Given the description of an element on the screen output the (x, y) to click on. 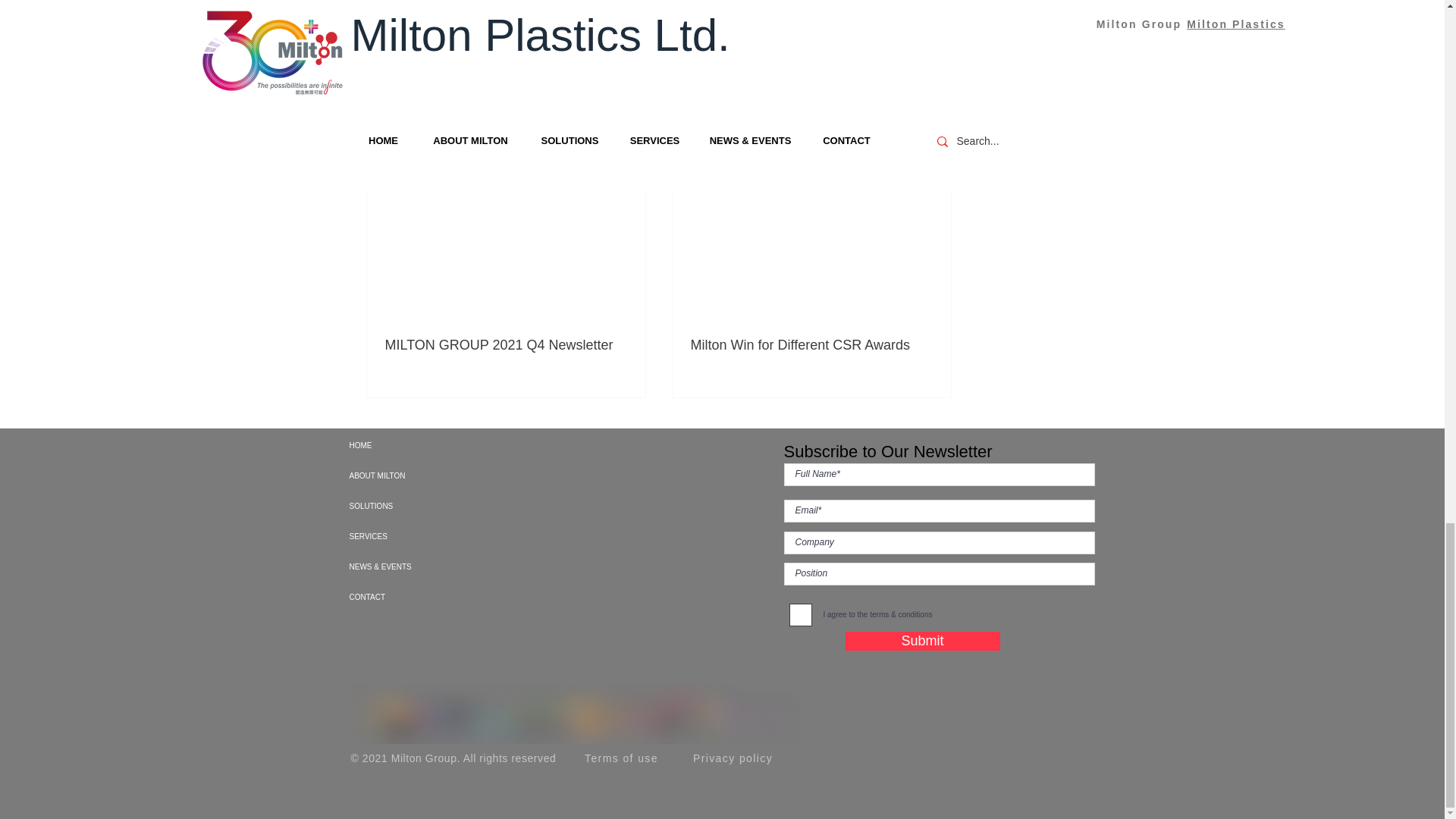
2021 (893, 37)
See All (935, 135)
